Given the description of an element on the screen output the (x, y) to click on. 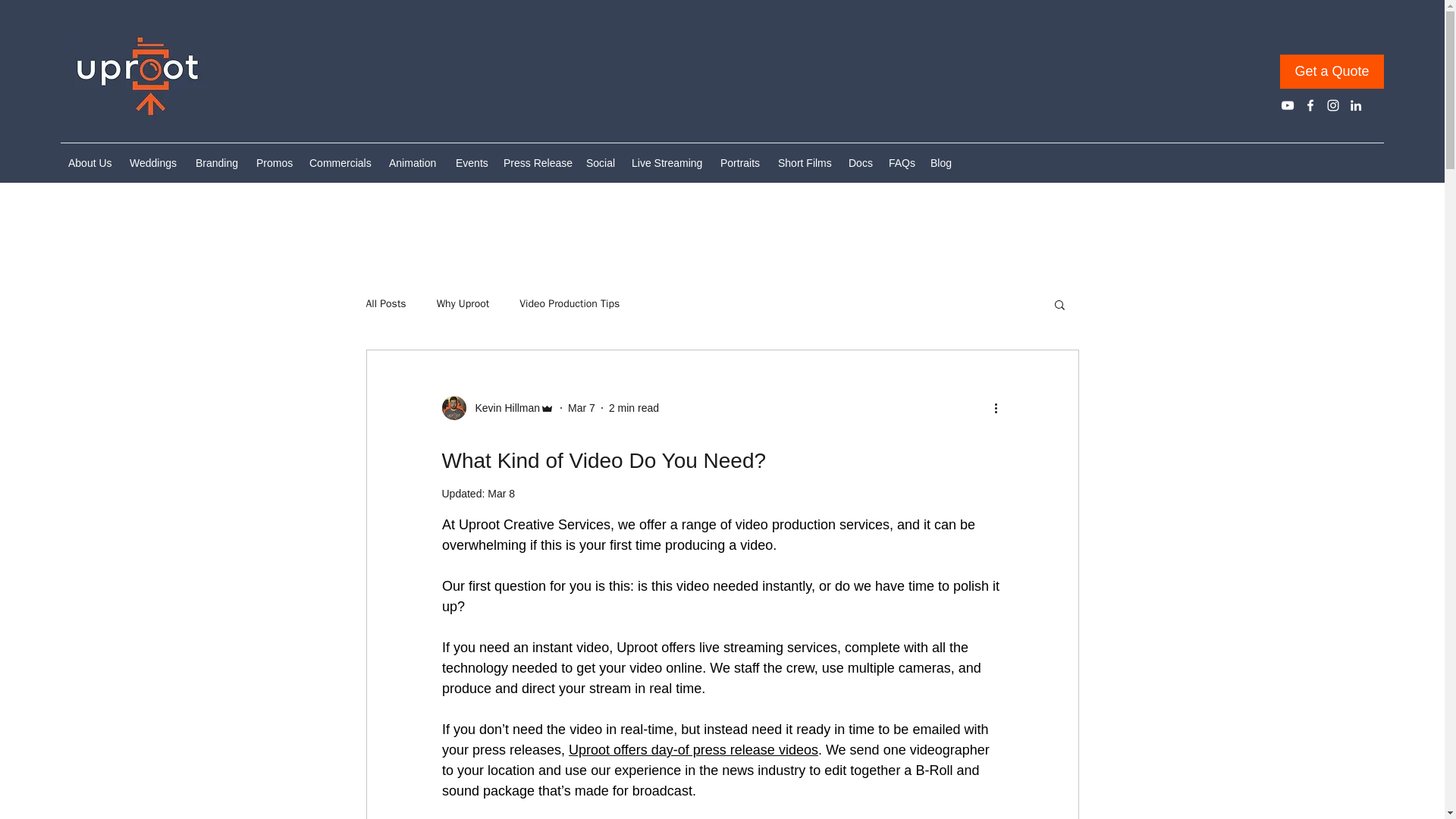
About Us (91, 162)
2 min read (633, 408)
FAQs (901, 162)
Branding (217, 162)
Get a Quote (1331, 71)
Uproot offers day-of press release videos (693, 749)
Animation (414, 162)
Why Uproot (462, 304)
Social (601, 162)
All Posts (385, 304)
Blog (941, 162)
Video Production Tips (569, 304)
Events (472, 162)
Promos (274, 162)
Short Films (805, 162)
